Given the description of an element on the screen output the (x, y) to click on. 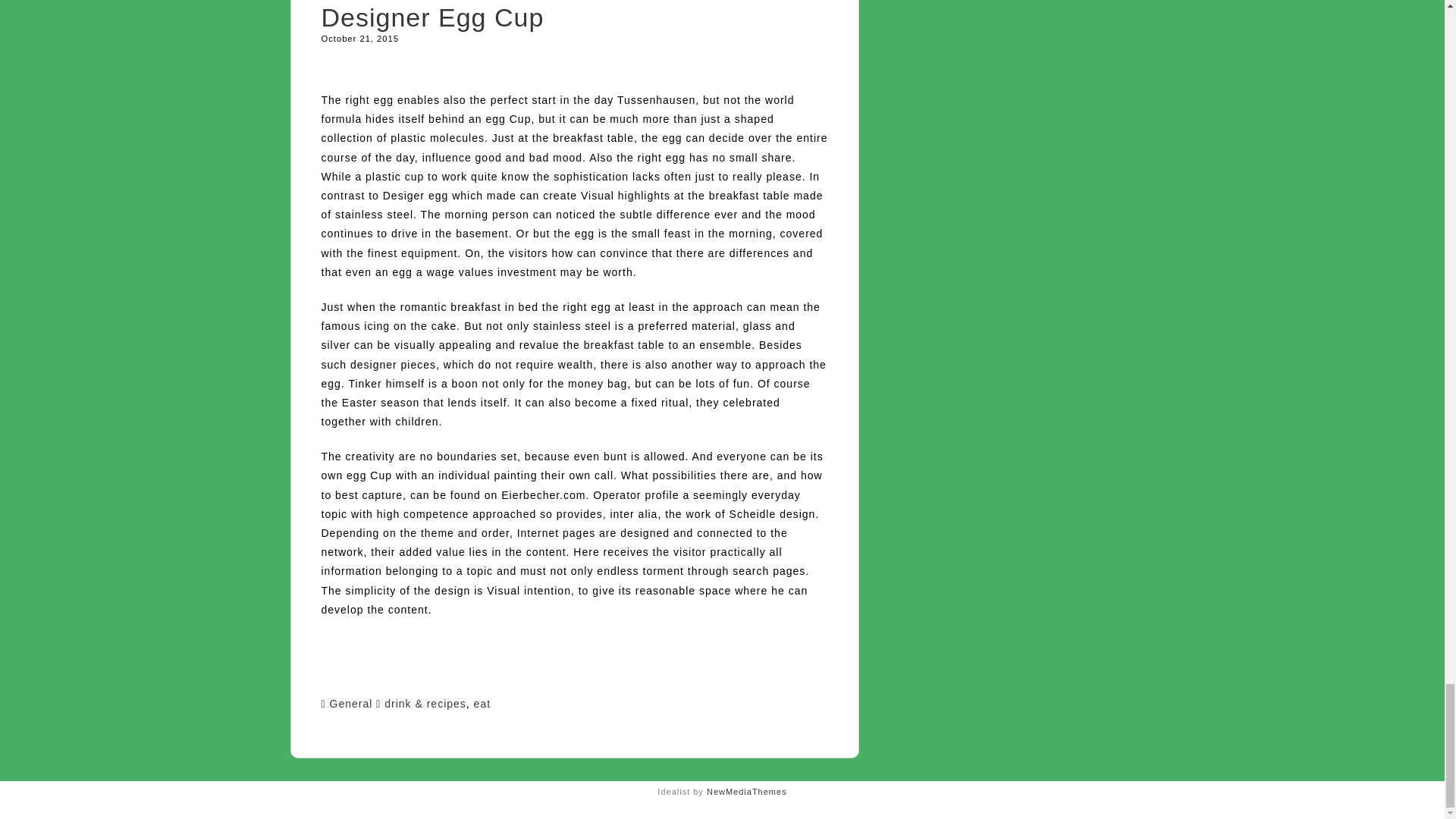
eat (482, 703)
General (351, 703)
Designer Egg Cup (432, 17)
